Given the description of an element on the screen output the (x, y) to click on. 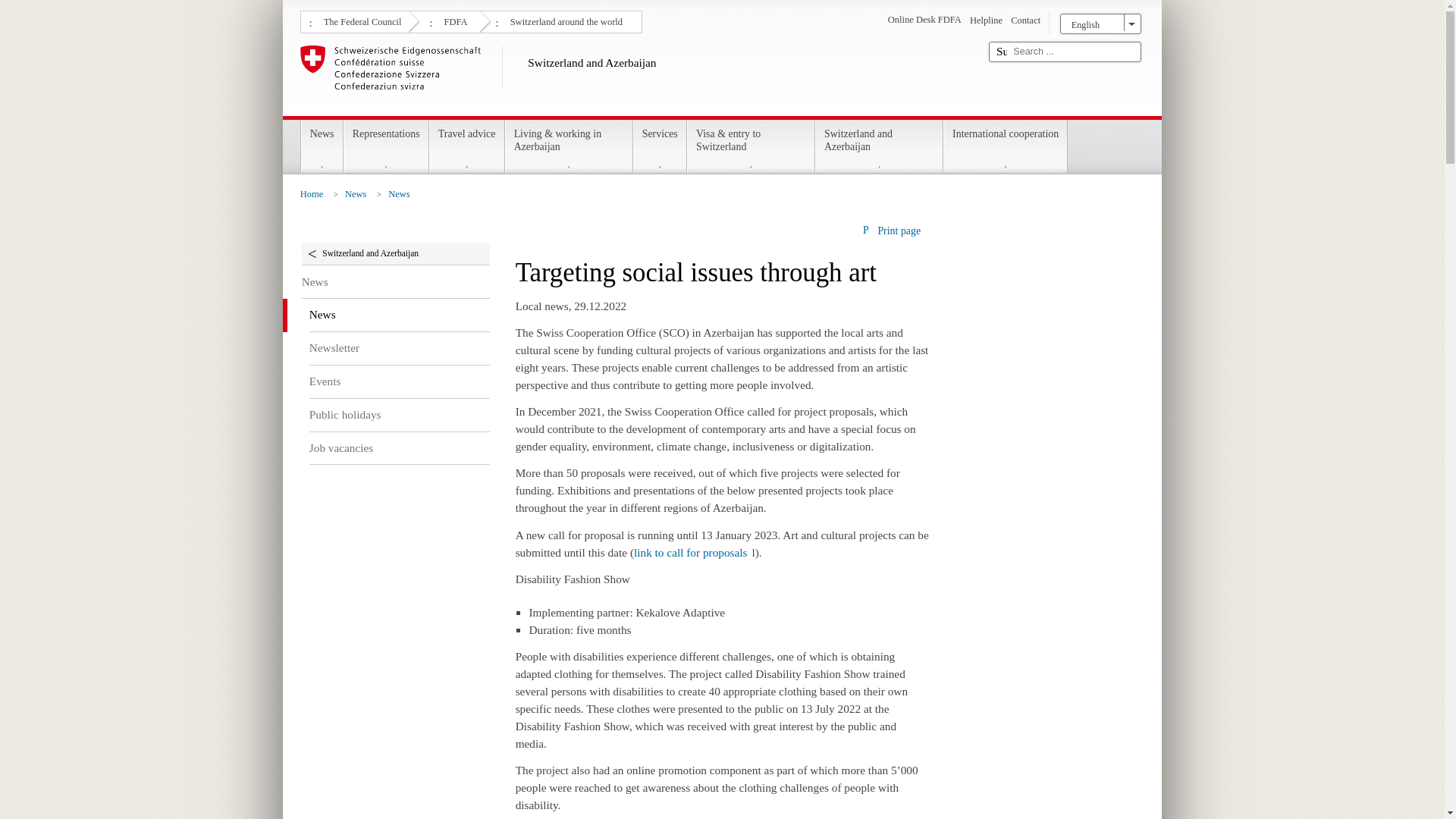
External Link (694, 552)
Switzerland around the world (564, 20)
The Federal Council (360, 20)
FDFA (454, 20)
Switzerland and Azerbaijan (637, 76)
